Given the description of an element on the screen output the (x, y) to click on. 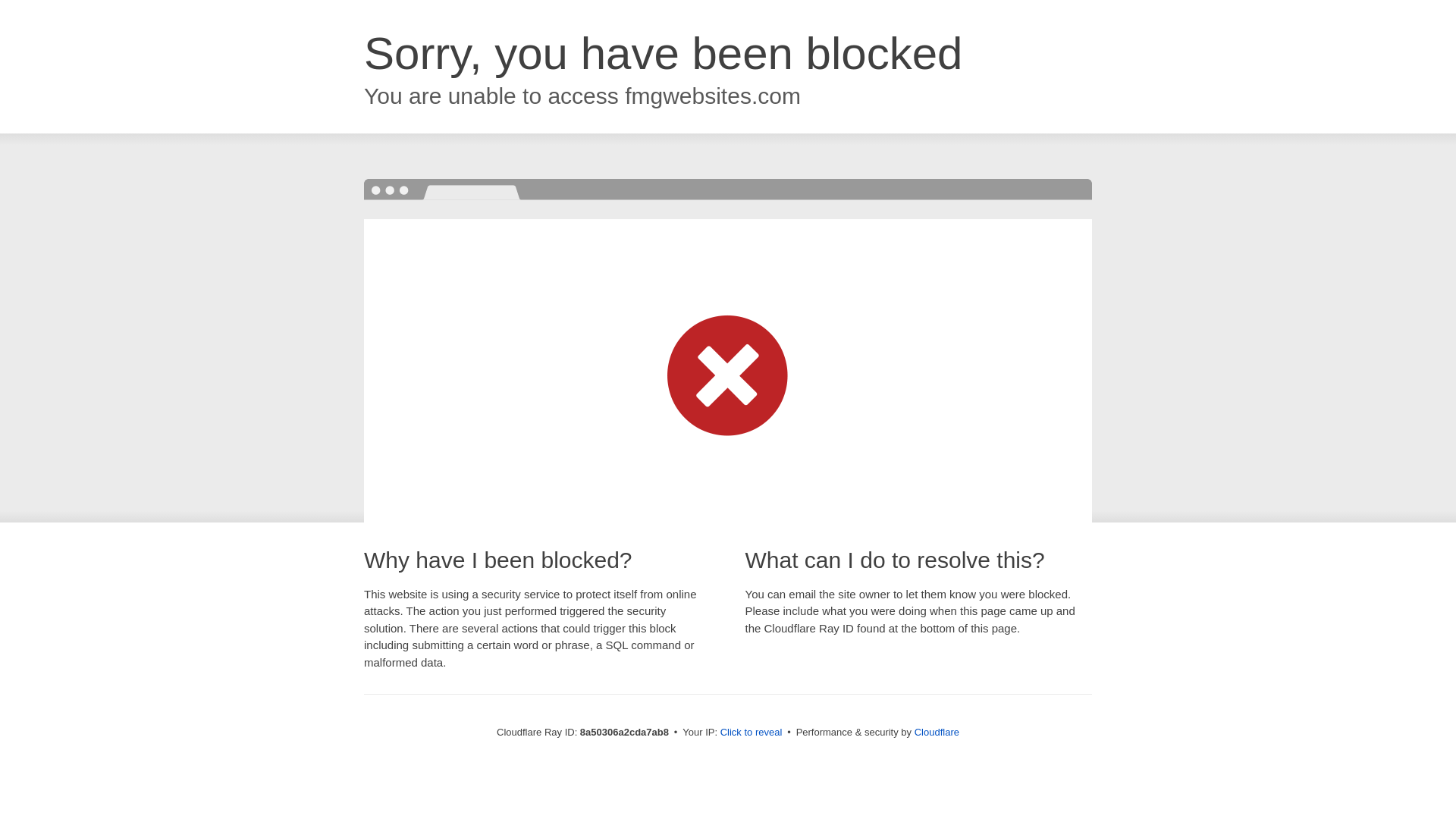
Click to reveal (751, 732)
Cloudflare (936, 731)
